Given the description of an element on the screen output the (x, y) to click on. 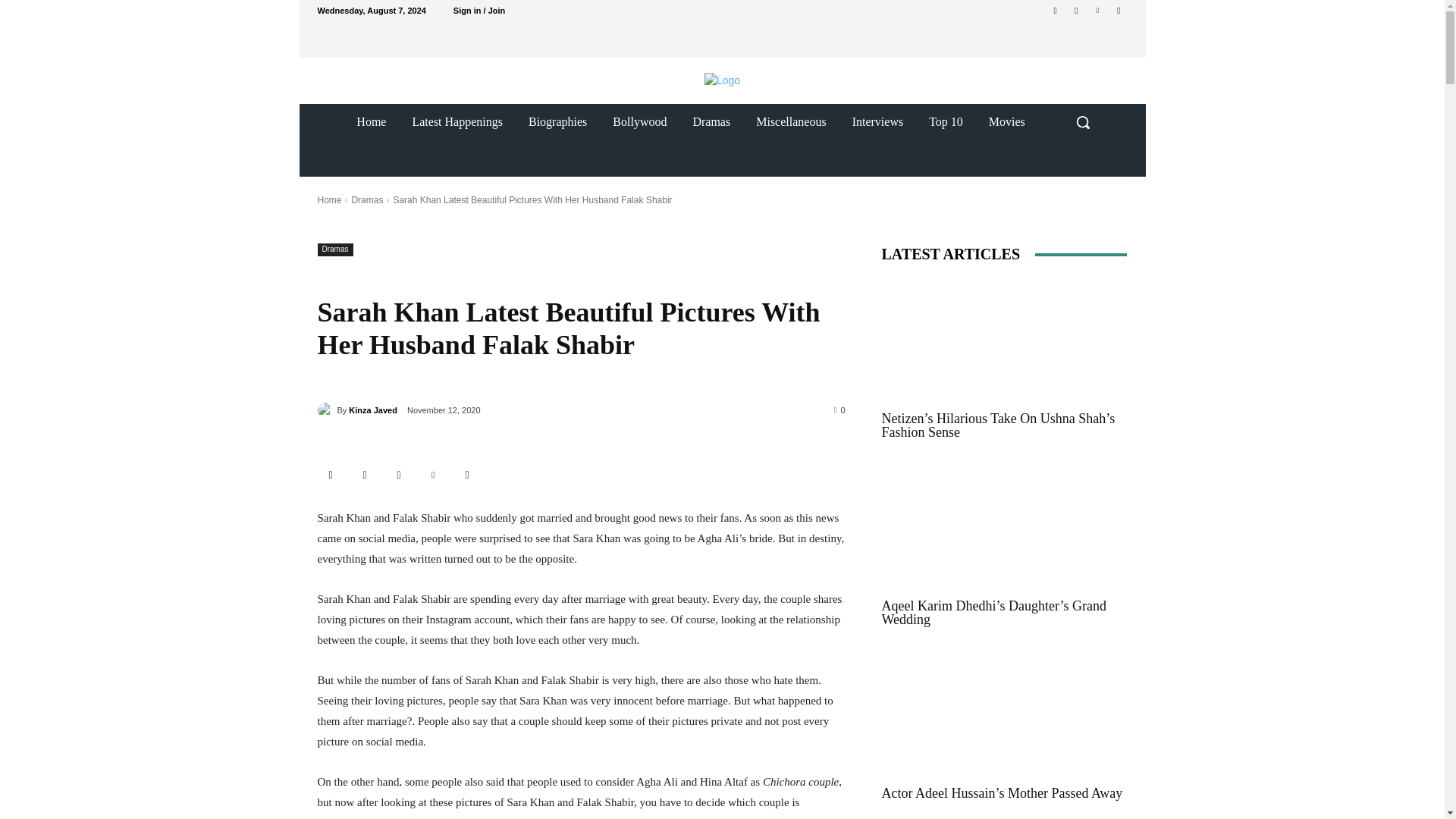
Movies (1006, 122)
Pinterest (1097, 9)
Bollywood (639, 122)
Interviews (878, 122)
Facebook (365, 474)
Top 10 (945, 122)
Kinza Javed (373, 409)
Biographies (557, 122)
Dramas (334, 249)
Instagram (1075, 9)
